Given the description of an element on the screen output the (x, y) to click on. 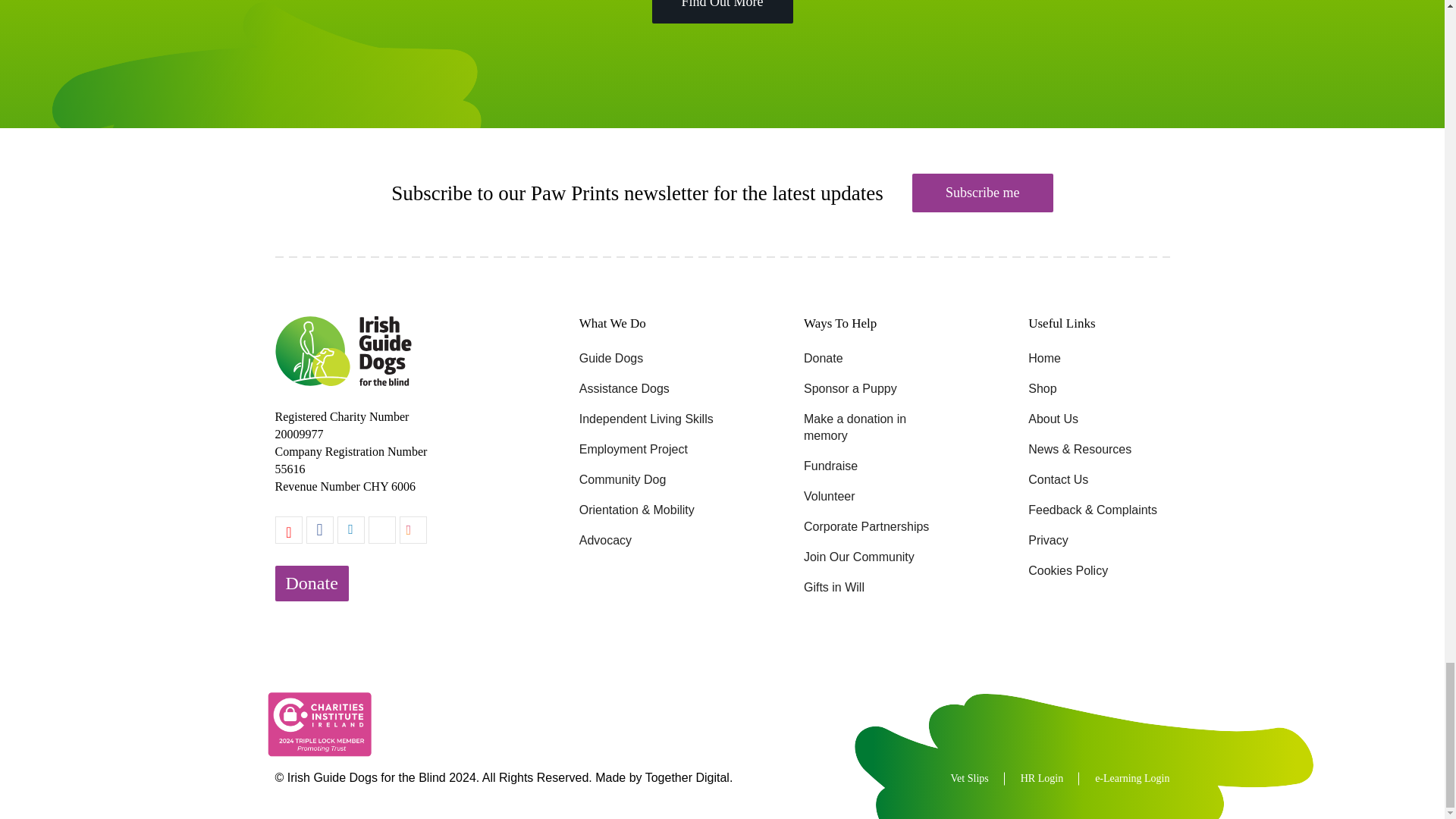
Twitter (382, 529)
Instagram (412, 529)
YouTube (288, 529)
LinkedIn (350, 529)
Facebook (319, 529)
